Given the description of an element on the screen output the (x, y) to click on. 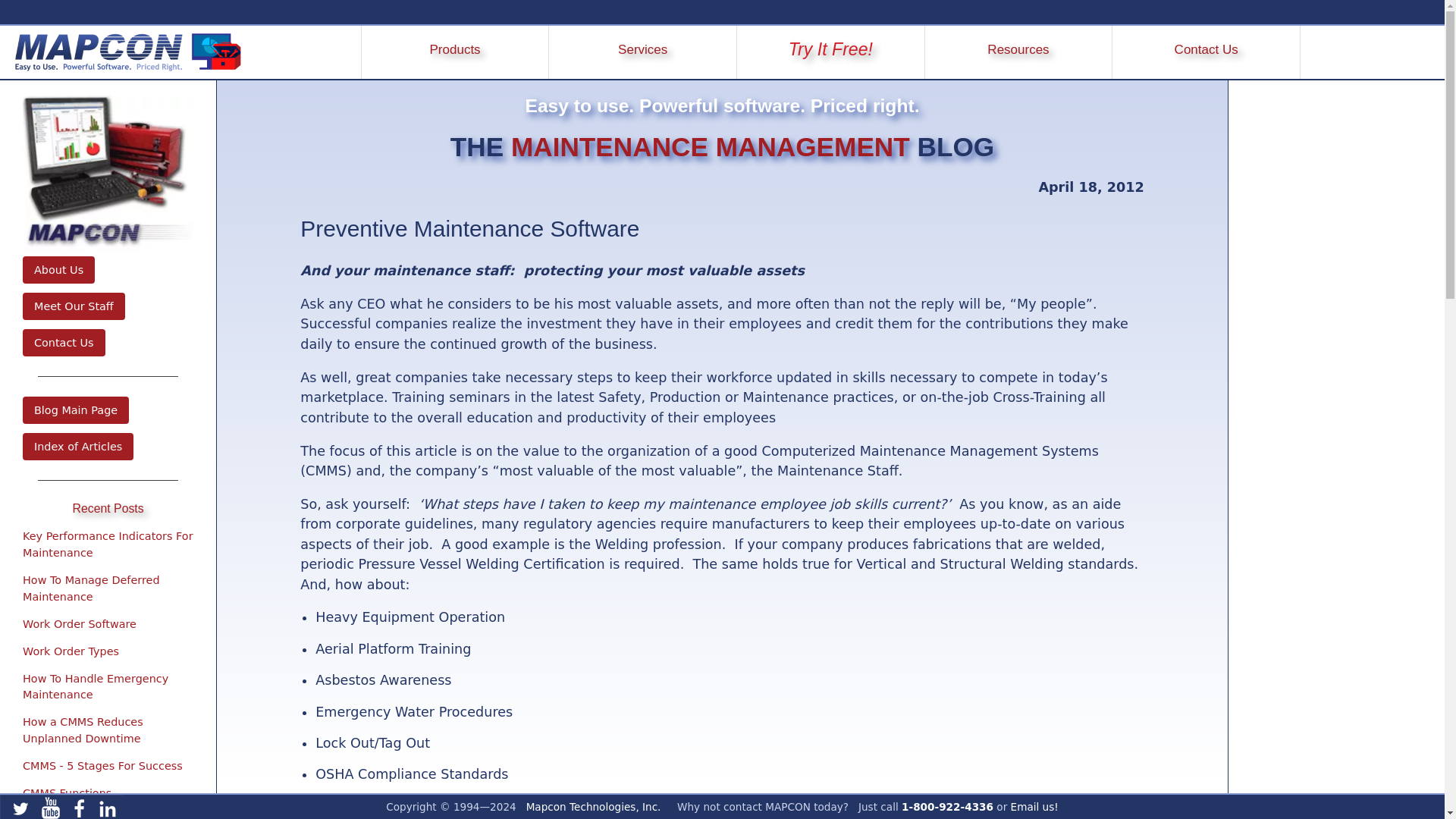
Twitter (17, 806)
Mapcon Technologies, Inc. (593, 806)
Facebook (79, 806)
MAPCON Home Page (120, 51)
YouTube (50, 806)
LinkedIn (107, 806)
